Given the description of an element on the screen output the (x, y) to click on. 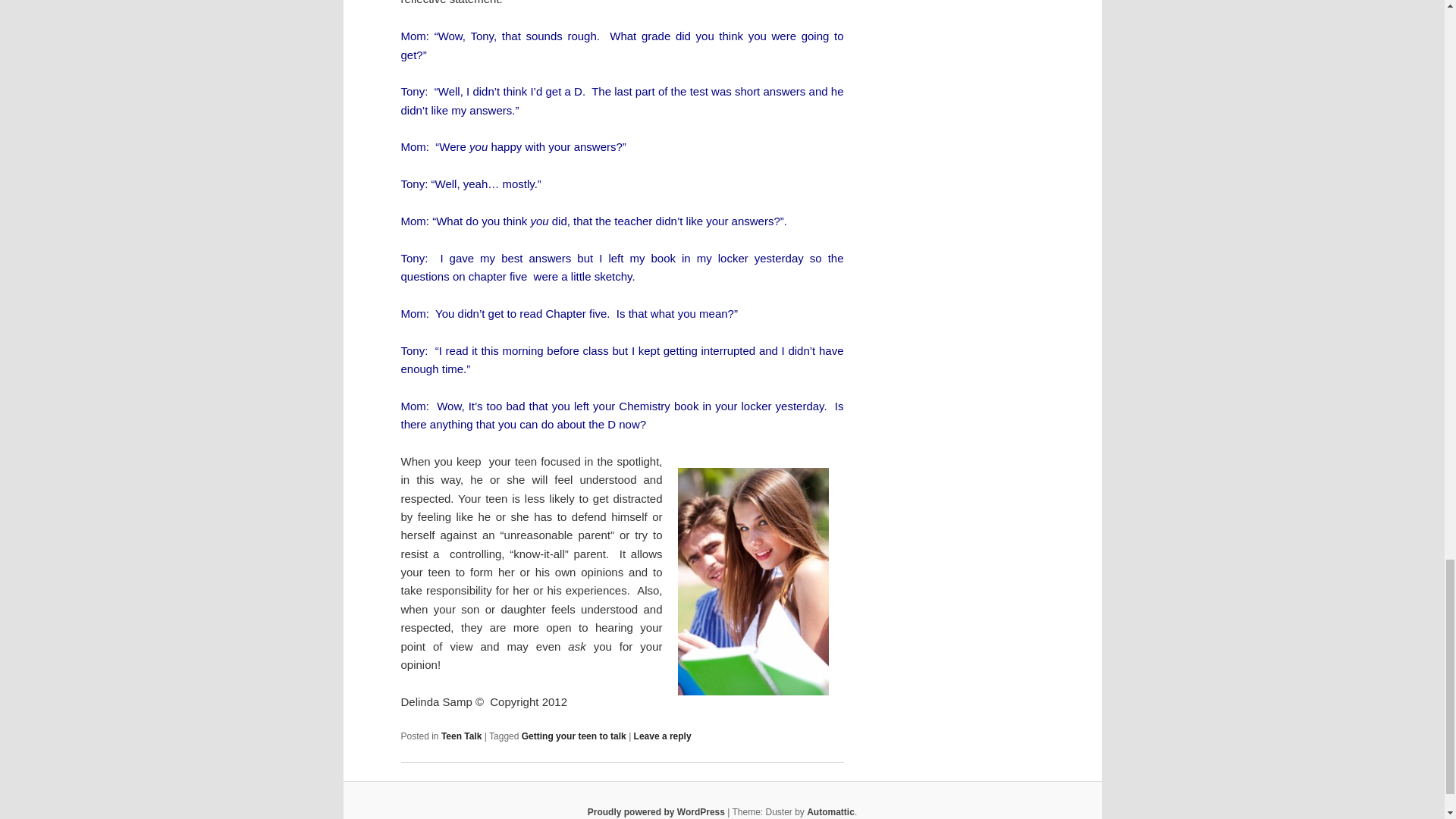
A Semantic Personal Publishing Platform (656, 811)
Getting your teen to talk (573, 736)
Proudly powered by WordPress (656, 811)
Leave a reply (662, 736)
Automattic (830, 811)
Teen Talk (461, 736)
